Given the description of an element on the screen output the (x, y) to click on. 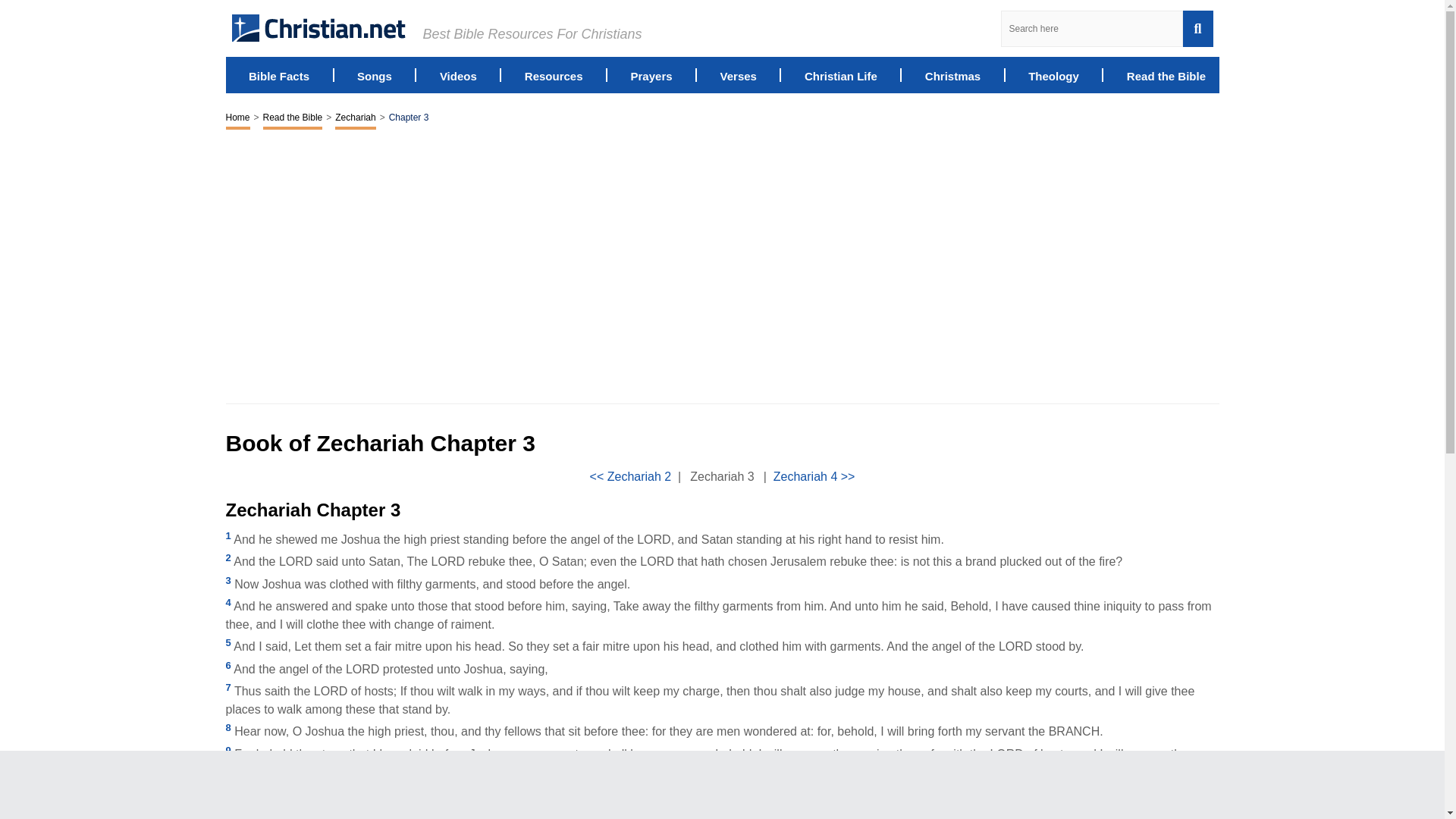
Zechariah Chapter 4 (814, 476)
Bible Facts (278, 74)
Resources (553, 74)
Videos (458, 74)
Theology (1052, 74)
Zechariah (354, 118)
Zechariah Chapter 2 (630, 476)
Songs (373, 74)
Verses (738, 74)
Read the Bible (1165, 74)
